Given the description of an element on the screen output the (x, y) to click on. 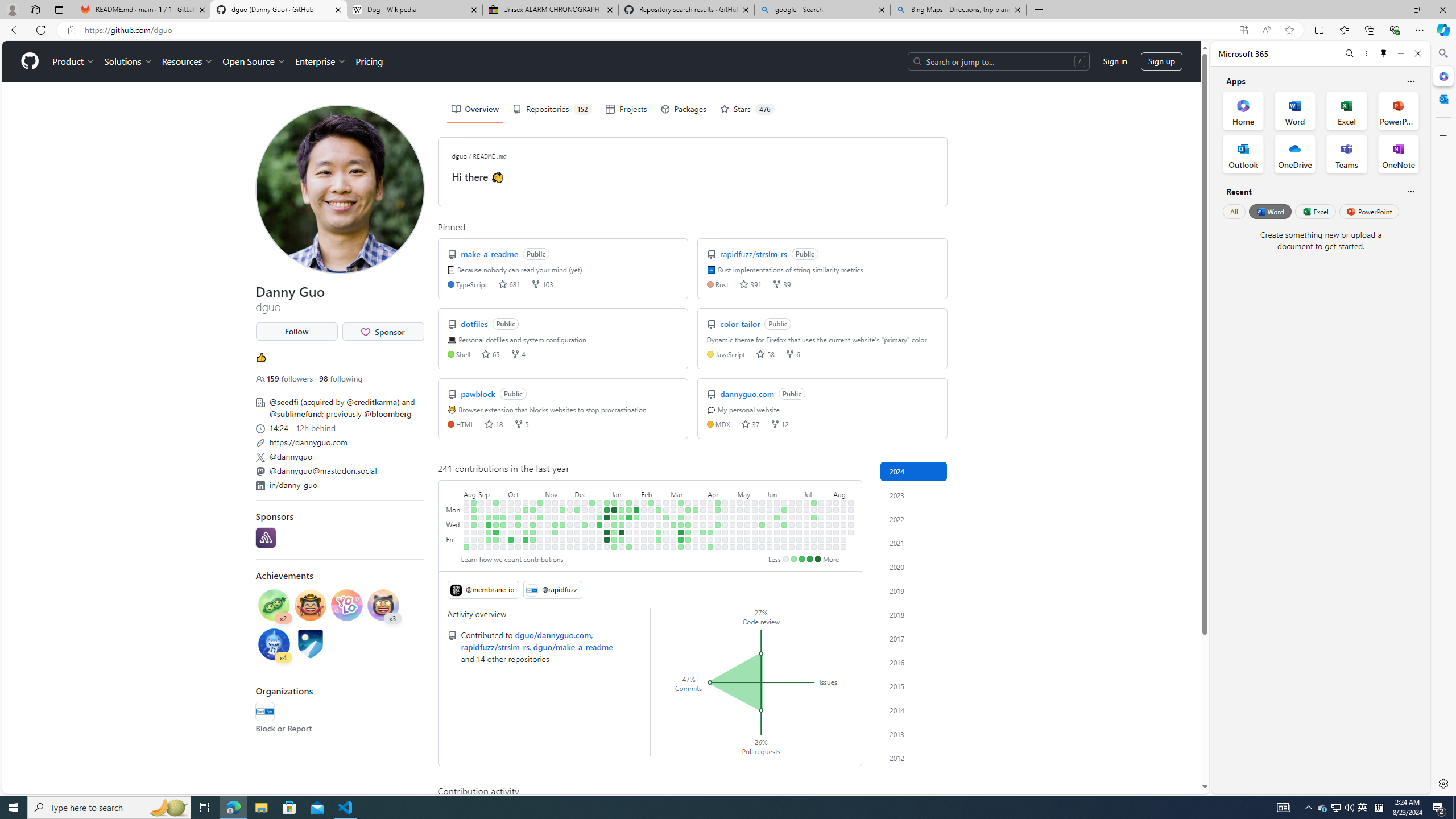
Solutions (128, 60)
Home Office App (1243, 110)
No contributions on April 10th. (710, 524)
4 contributions on December 27th. (599, 524)
No contributions on April 30th. (732, 517)
No contributions on May 12th. (747, 502)
No contributions on August 1st. (828, 531)
OneNote Office App (1398, 154)
No contributions on September 29th. (503, 539)
No contributions on December 28th. (599, 531)
No contributions on August 5th. (836, 509)
No contributions on May 3rd. (732, 539)
